Given the description of an element on the screen output the (x, y) to click on. 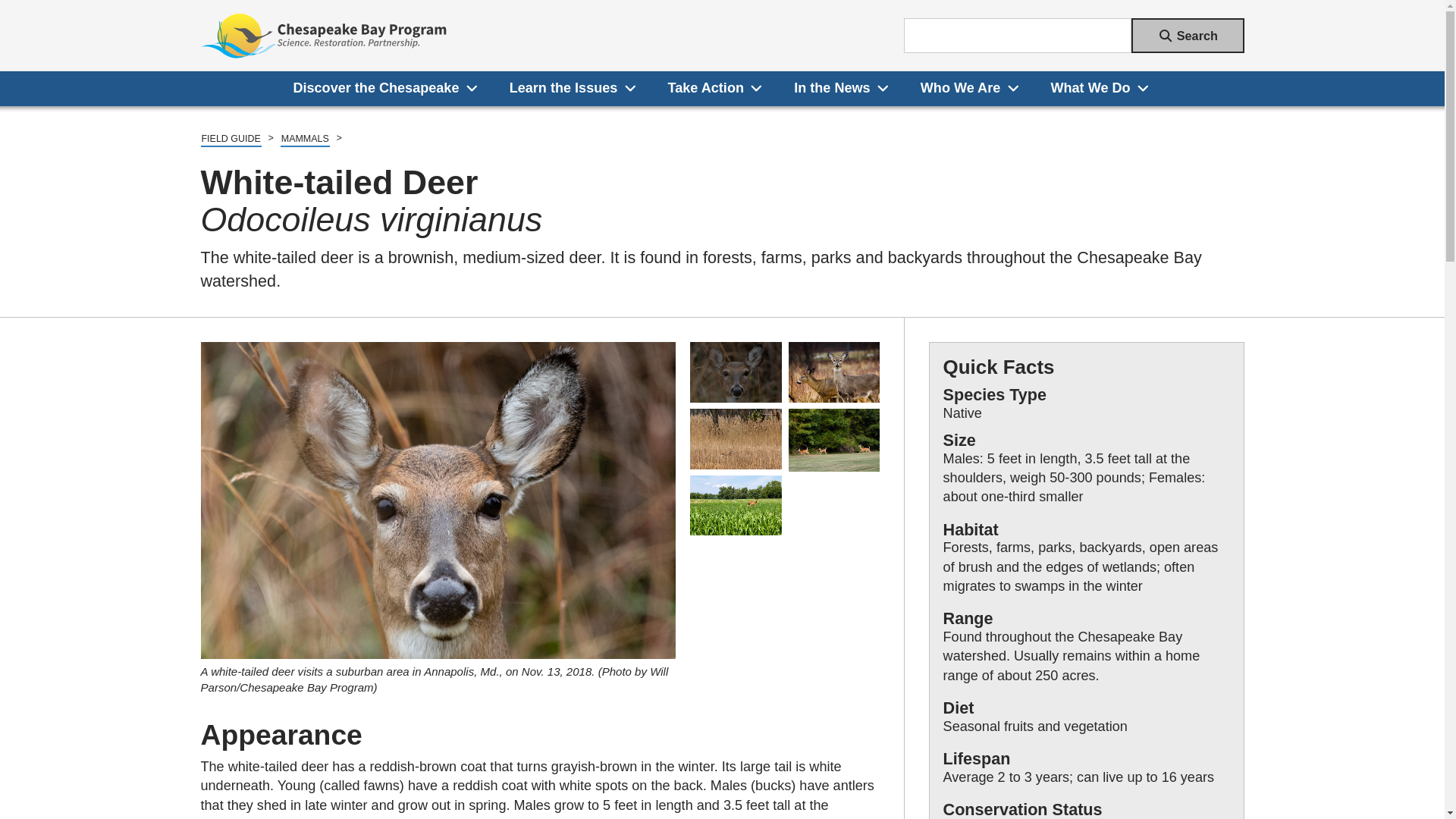
Search (1187, 35)
MAMMALS (305, 139)
FIELD GUIDE (230, 139)
